Given the description of an element on the screen output the (x, y) to click on. 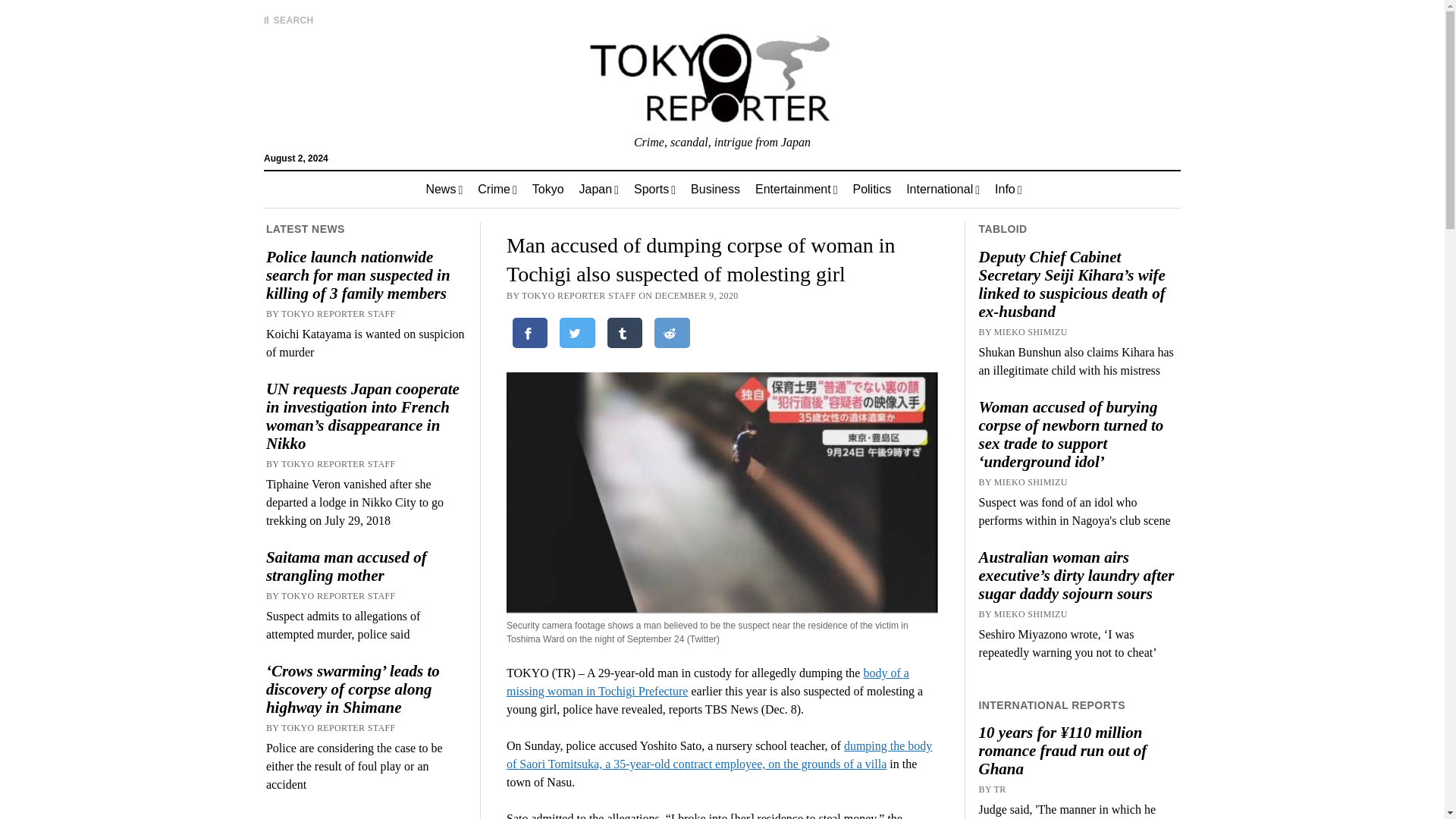
Crime (496, 189)
Business (715, 189)
Search (945, 129)
SEARCH (288, 20)
Politics (871, 189)
Japan (598, 189)
News (443, 189)
Entertainment (795, 189)
Sports (654, 189)
Tokyo (547, 189)
